Given the description of an element on the screen output the (x, y) to click on. 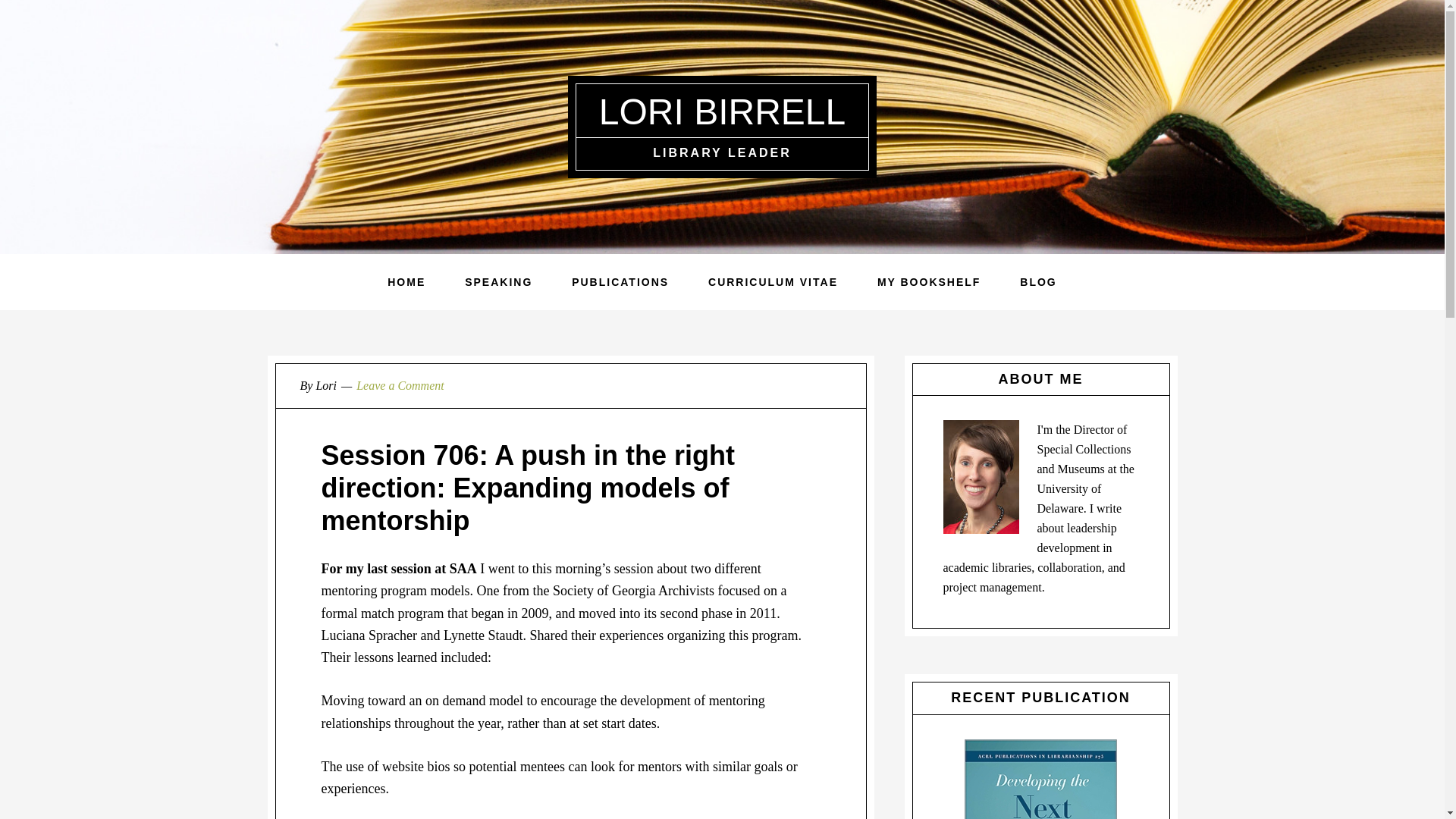
HOME (406, 281)
LORI BIRRELL (721, 111)
PUBLICATIONS (620, 281)
CURRICULUM VITAE (773, 281)
SPEAKING (498, 281)
BLOG (1037, 281)
MY BOOKSHELF (928, 281)
Leave a Comment (400, 385)
